Given the description of an element on the screen output the (x, y) to click on. 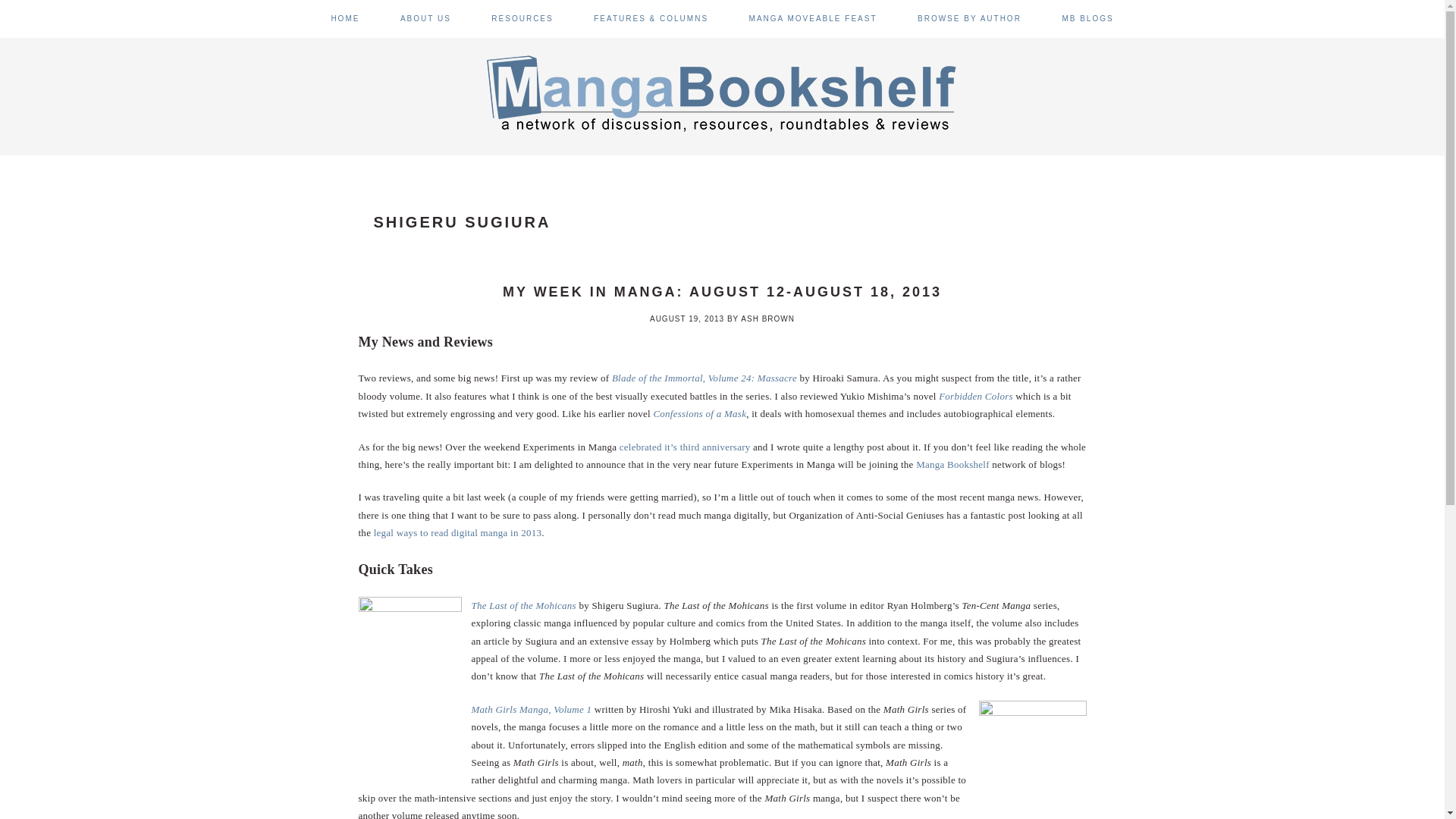
Posts by Ash Brown (767, 318)
HOME (344, 18)
MANGA MOVEABLE FEAST (813, 18)
RESOURCES (521, 18)
ABOUT US (425, 18)
